Given the description of an element on the screen output the (x, y) to click on. 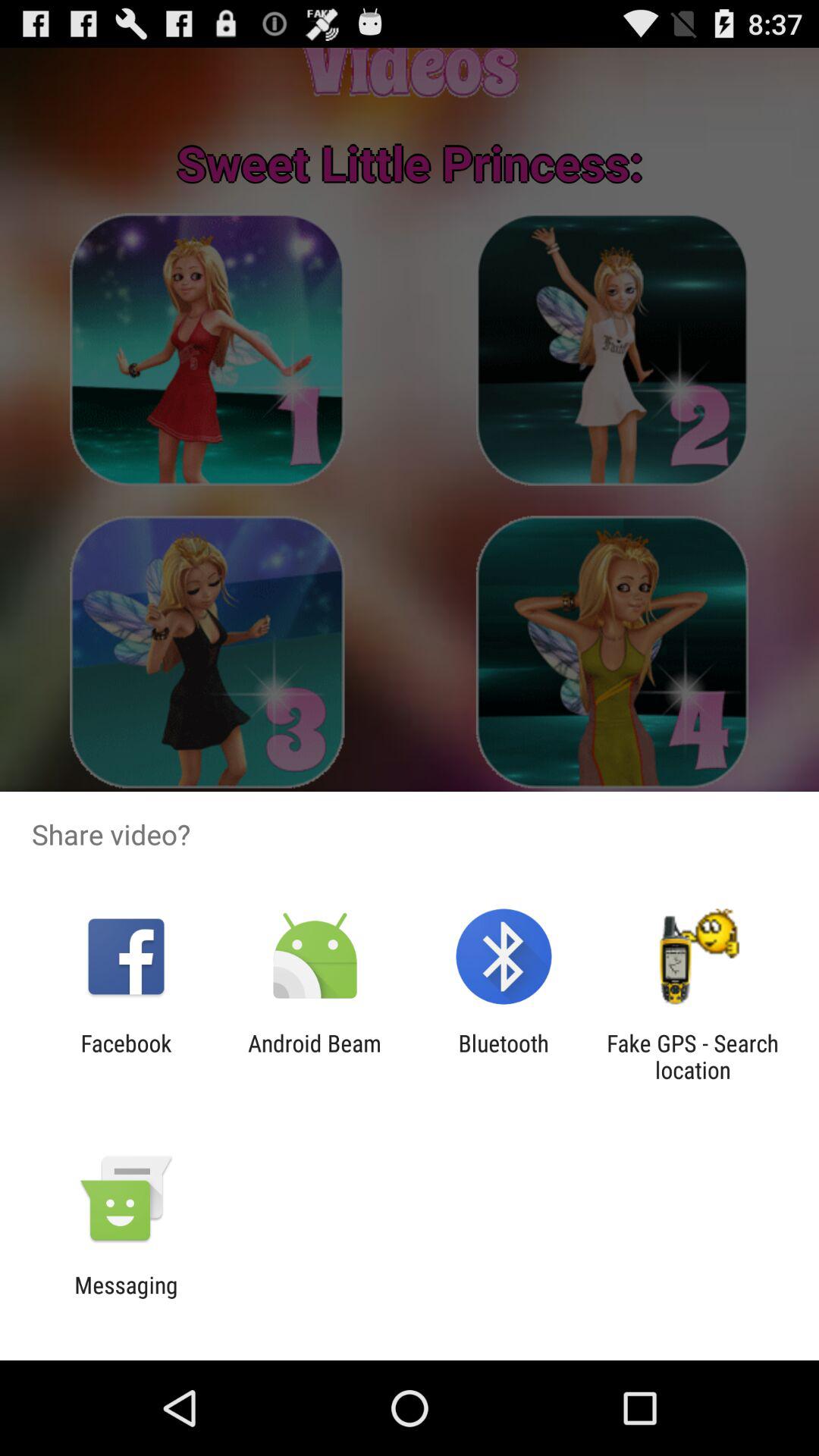
open facebook icon (125, 1056)
